Given the description of an element on the screen output the (x, y) to click on. 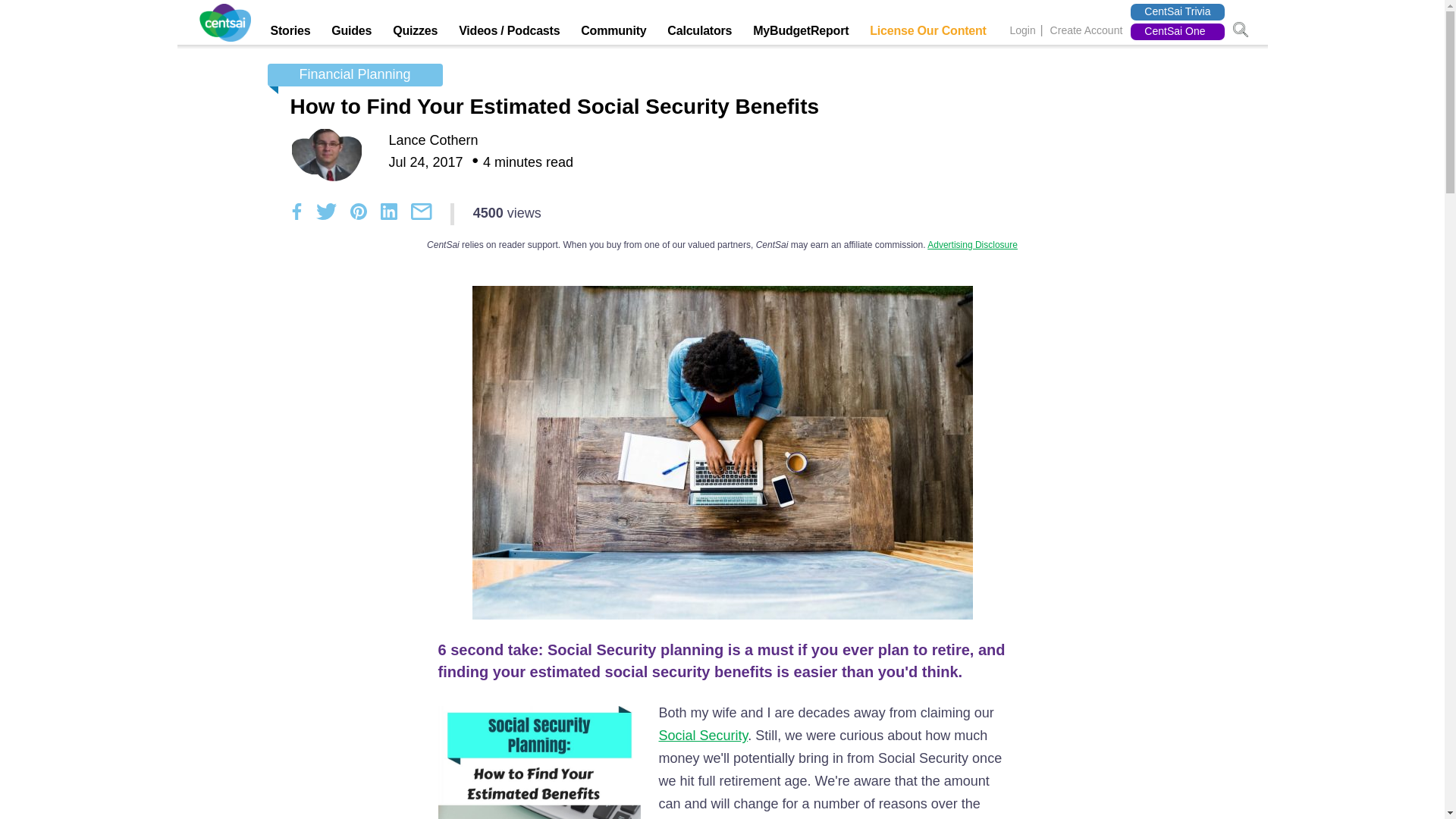
GO (1241, 30)
Financial Planning (354, 74)
GO (1241, 30)
Stories (289, 34)
